Given the description of an element on the screen output the (x, y) to click on. 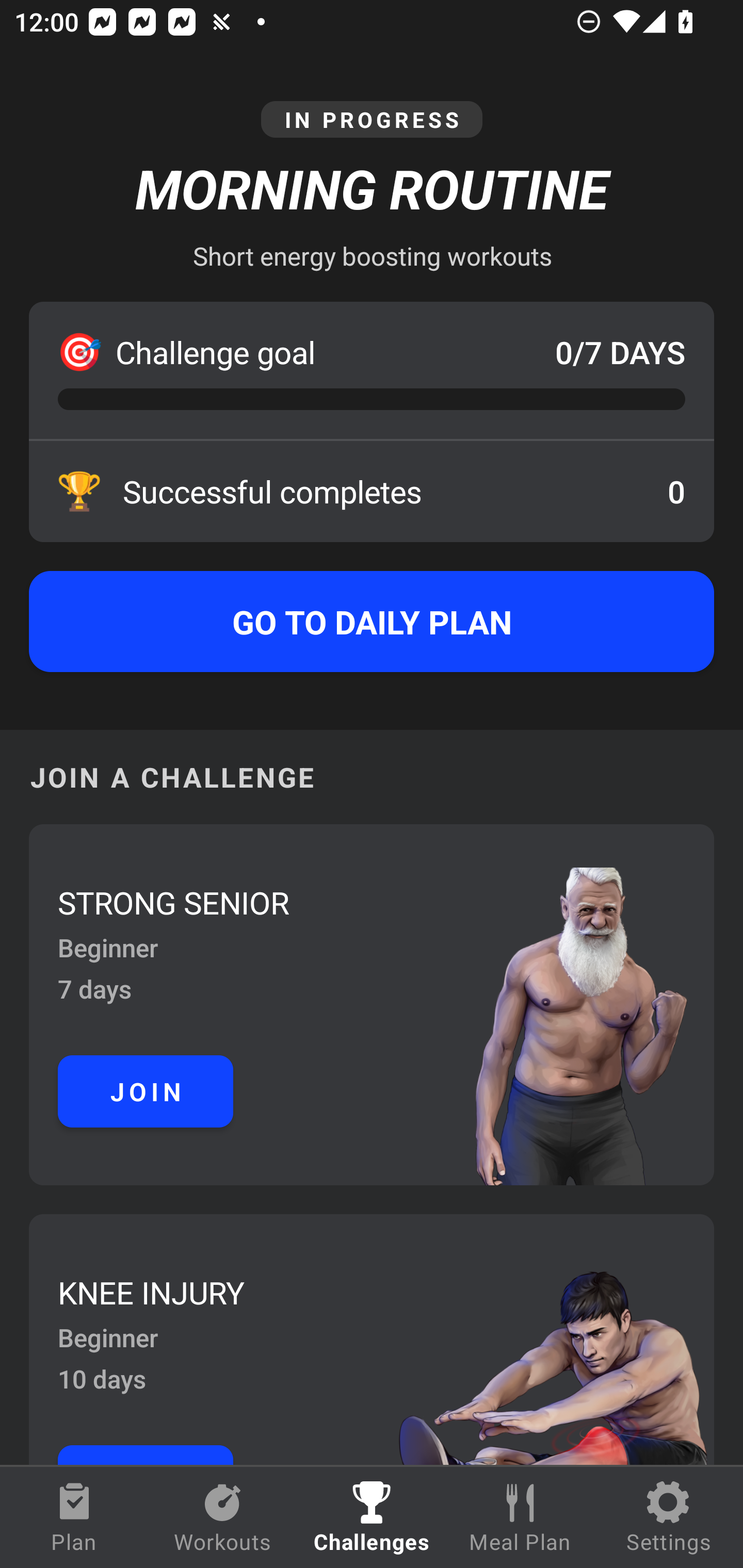
GO TO DAILY PLAN (371, 621)
JOIN (145, 1091)
 Plan  (74, 1517)
 Workouts  (222, 1517)
 Meal Plan  (519, 1517)
 Settings  (668, 1517)
